Given the description of an element on the screen output the (x, y) to click on. 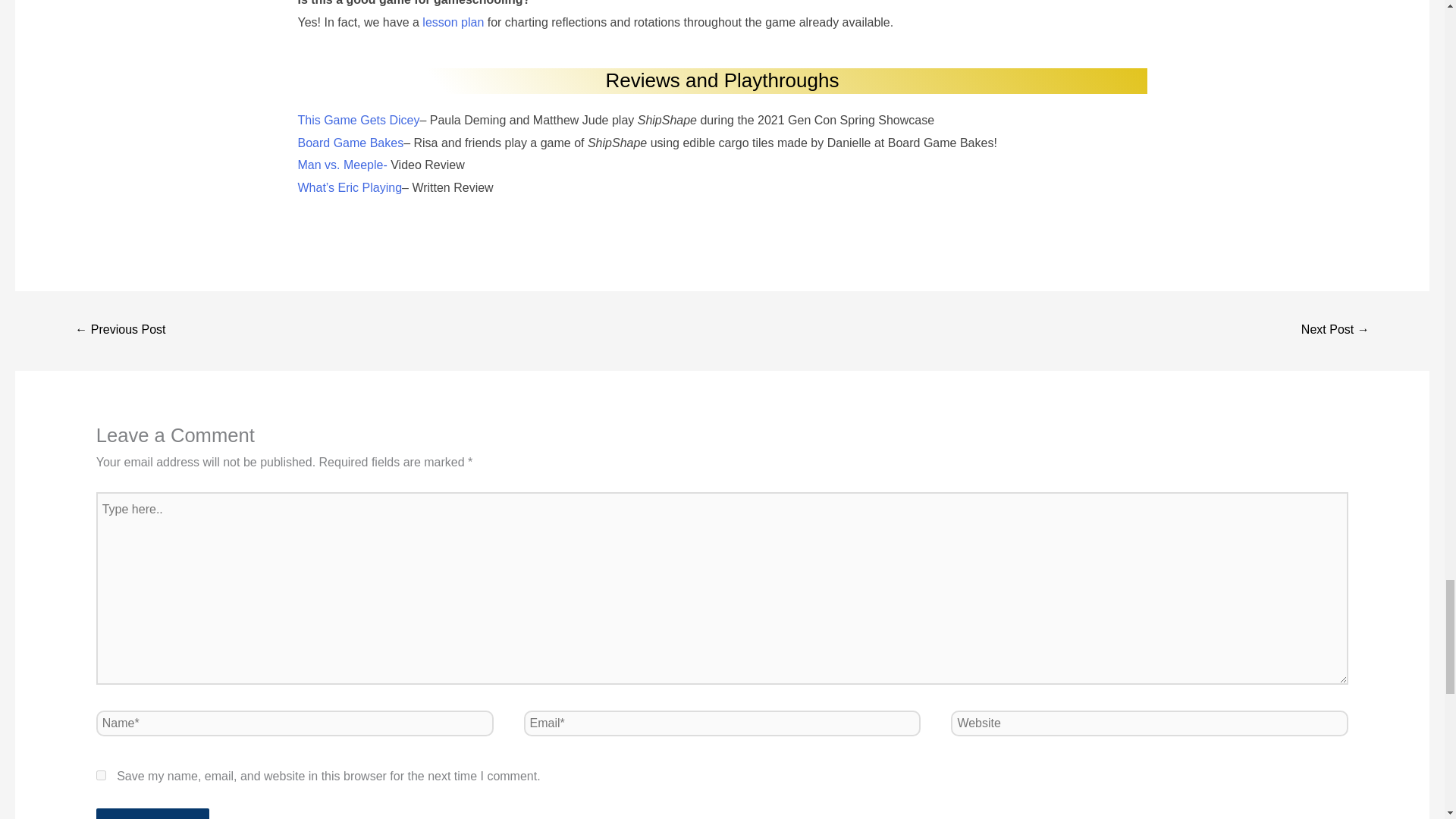
yes (101, 775)
Enchanted Plumes Solo Mode Variant (119, 330)
Everything You Need to Know About The Mansky Caper! (1334, 330)
lesson plan (452, 21)
This Game Gets Dicey (358, 119)
